Given the description of an element on the screen output the (x, y) to click on. 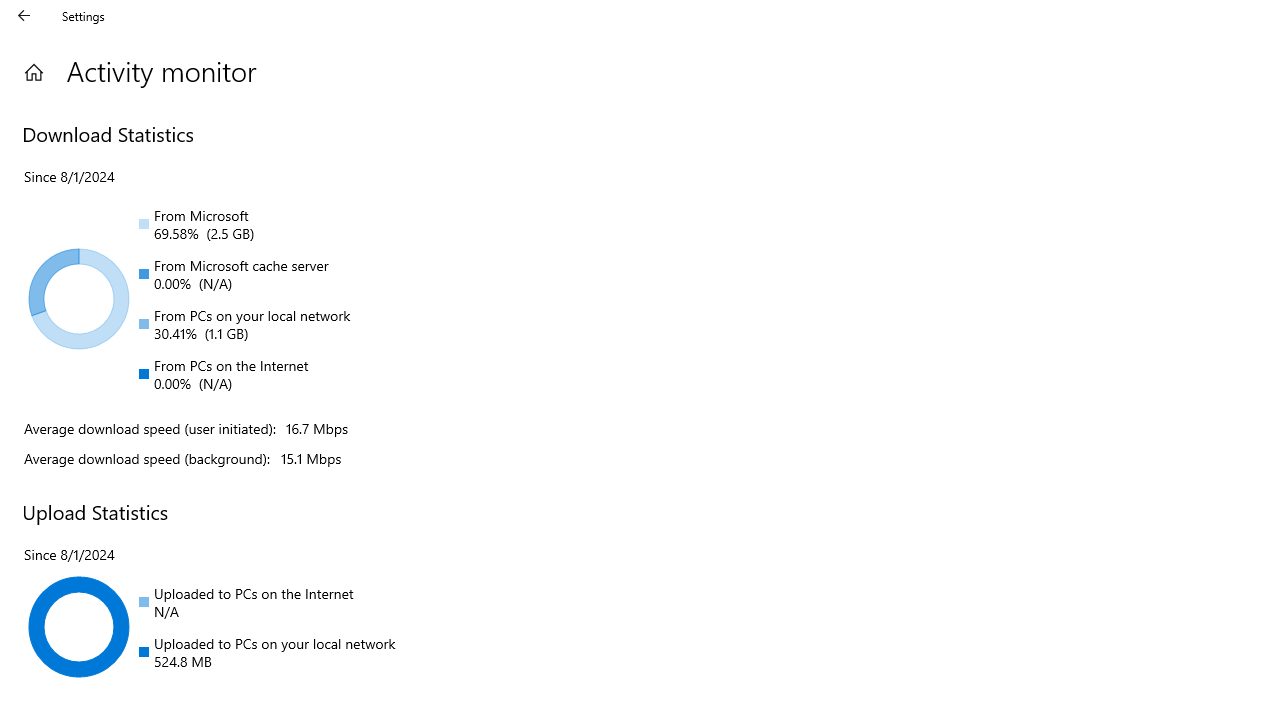
Back (24, 15)
Home (33, 71)
